Given the description of an element on the screen output the (x, y) to click on. 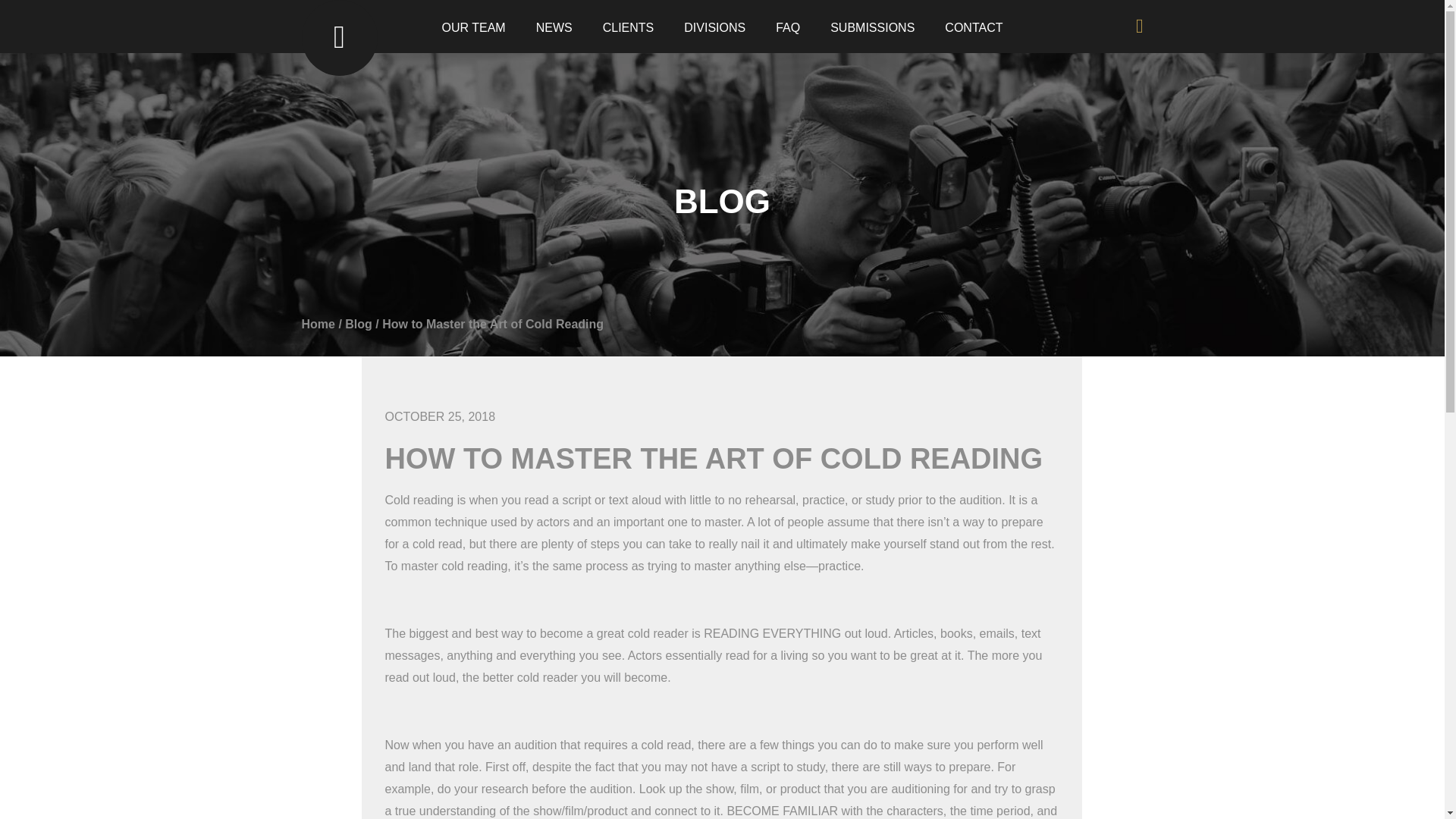
CONTACT (973, 27)
OUR TEAM (473, 27)
FAQ (787, 27)
CLIENTS (627, 27)
NEWS (553, 27)
Blog (358, 323)
DIVISIONS (714, 27)
SUBMISSIONS (871, 27)
Home (317, 323)
